Given the description of an element on the screen output the (x, y) to click on. 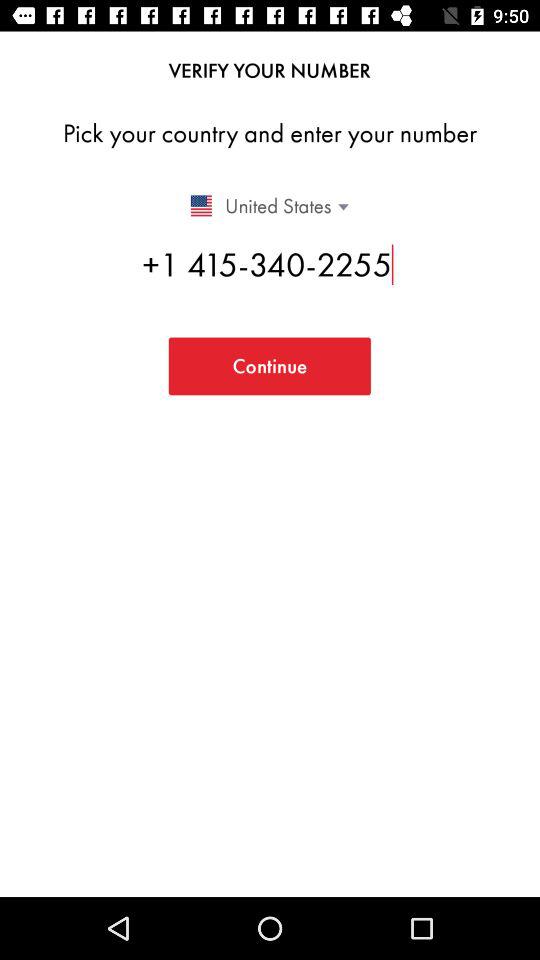
turn off the continue item (269, 366)
